Given the description of an element on the screen output the (x, y) to click on. 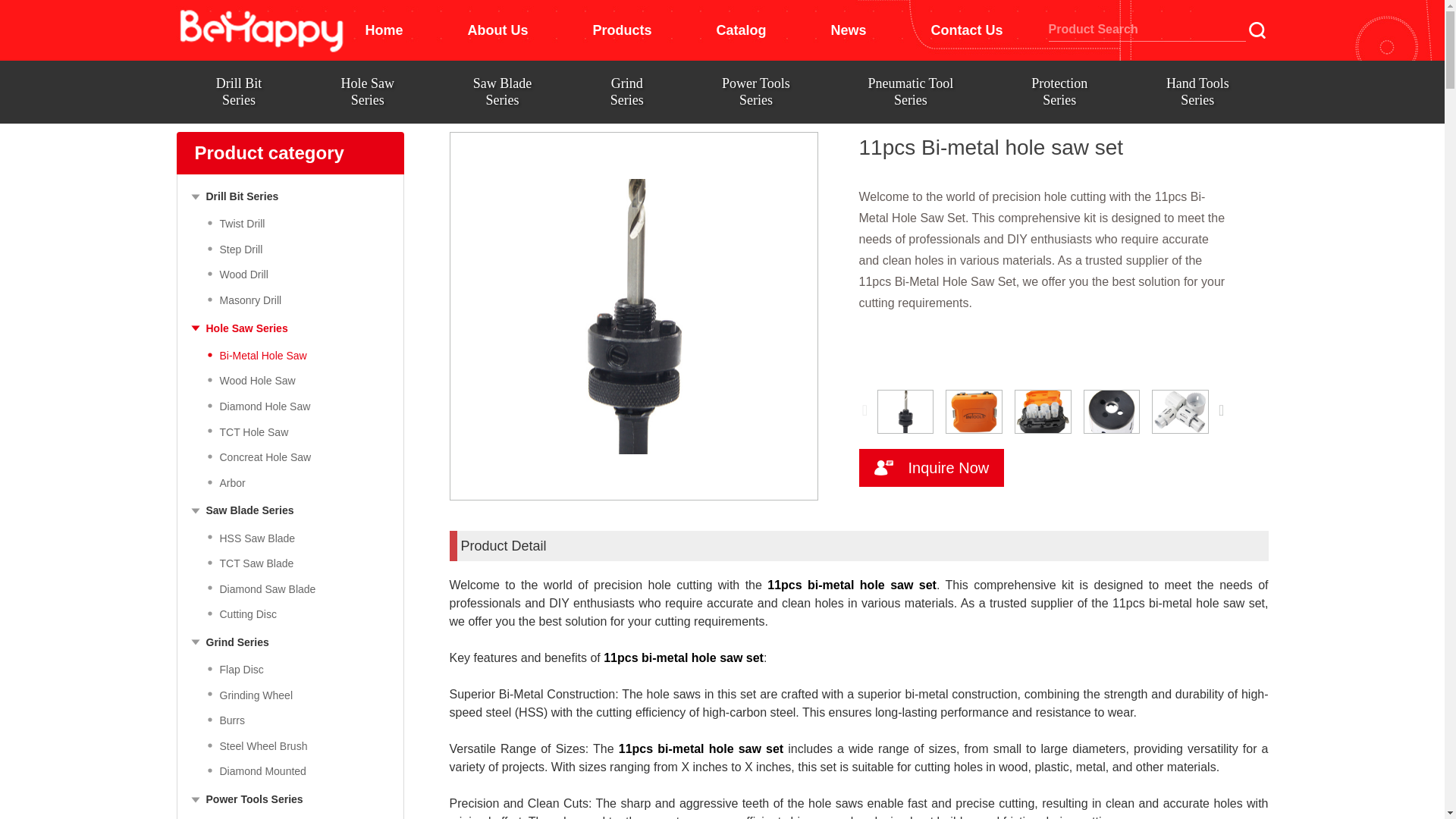
Drill Bit Series (238, 91)
11pcs Bi-metal hole saw set (905, 411)
Products (621, 30)
About Us (497, 30)
Contact Us (966, 30)
